Given the description of an element on the screen output the (x, y) to click on. 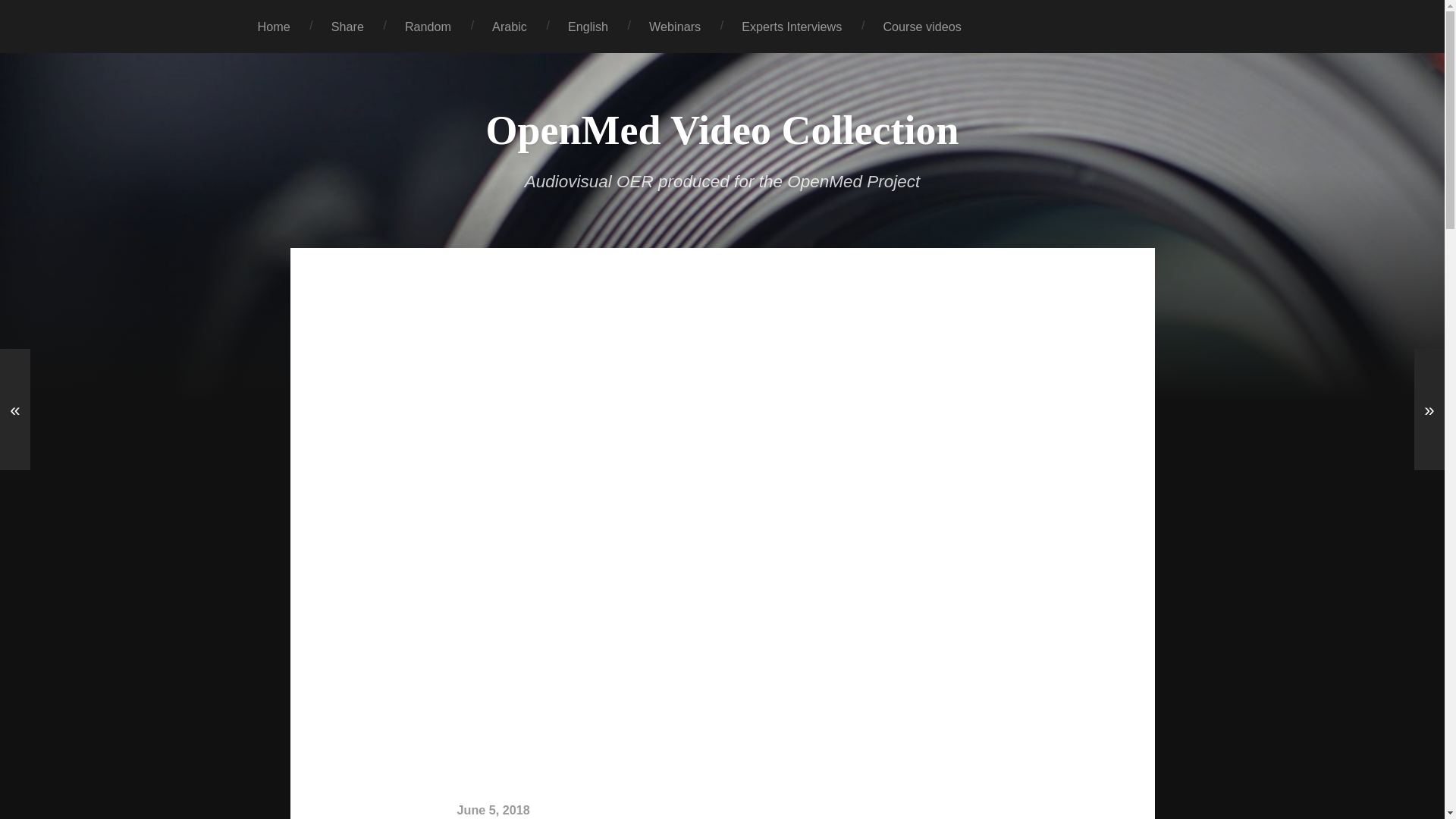
OpenMed Video Collection (721, 129)
Course videos (921, 26)
Home (272, 26)
Share (347, 26)
Webinars (674, 26)
Random (427, 26)
Experts Interviews (790, 26)
Arabic (509, 26)
English (587, 26)
